Given the description of an element on the screen output the (x, y) to click on. 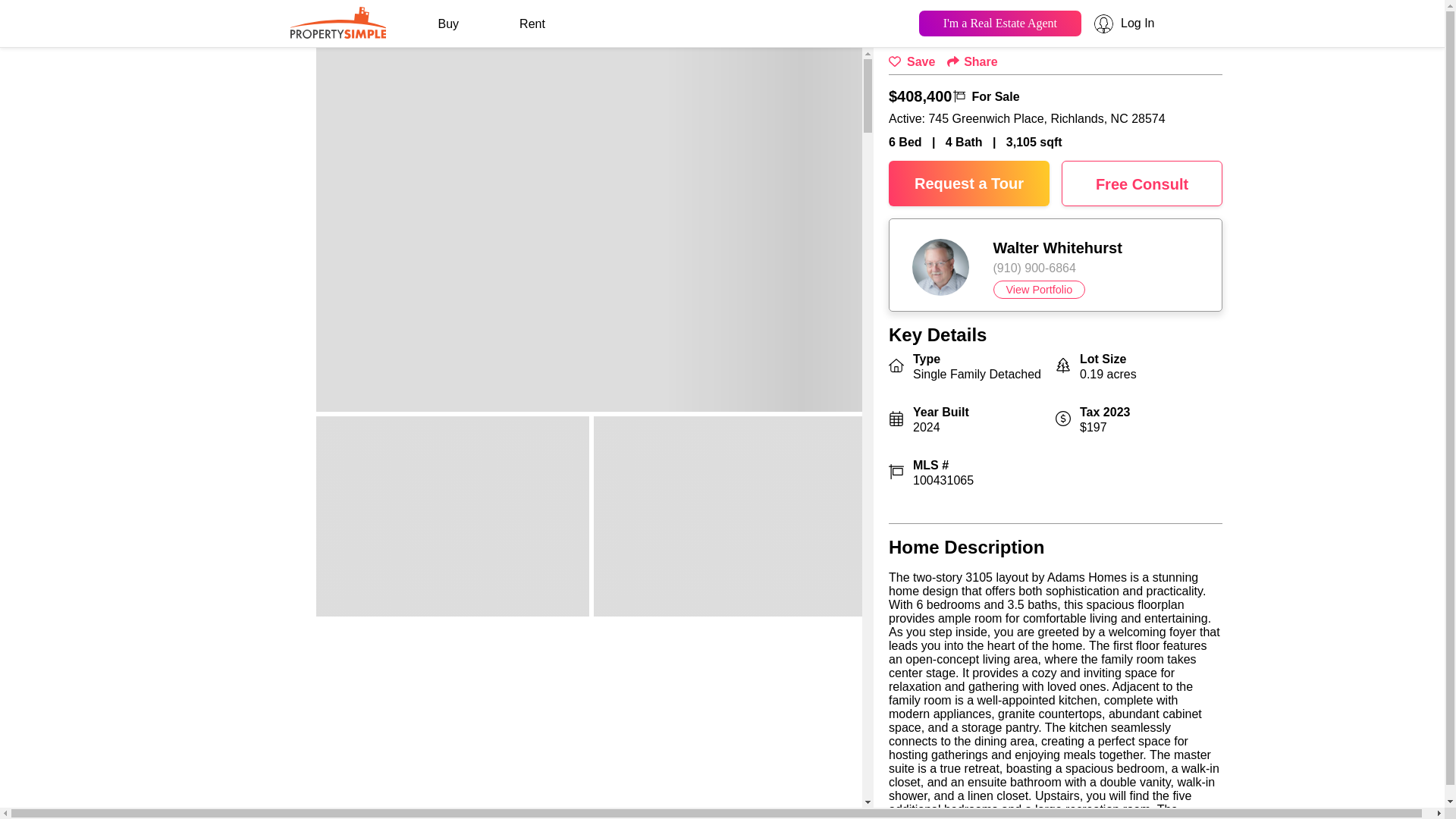
I'm a Real Estate Agent (999, 22)
Rent (532, 24)
View Portfolio (1039, 289)
PropertySimple's Logo (337, 21)
PropertySimple's Logo (337, 33)
Free Consult (1142, 183)
Buy (448, 24)
Request a Tour (968, 183)
